Given the description of an element on the screen output the (x, y) to click on. 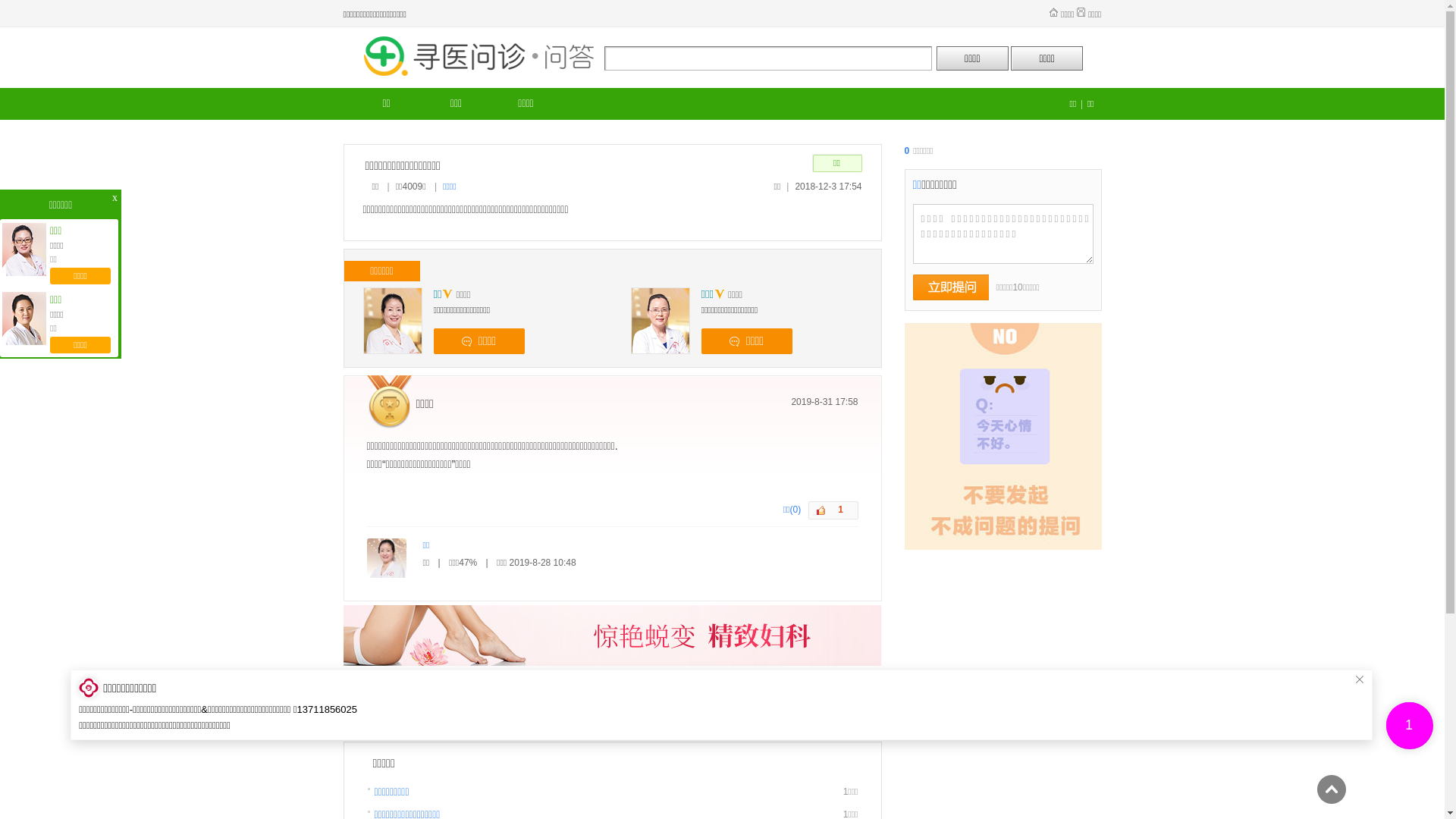
0 Element type: text (908, 150)
